Given the description of an element on the screen output the (x, y) to click on. 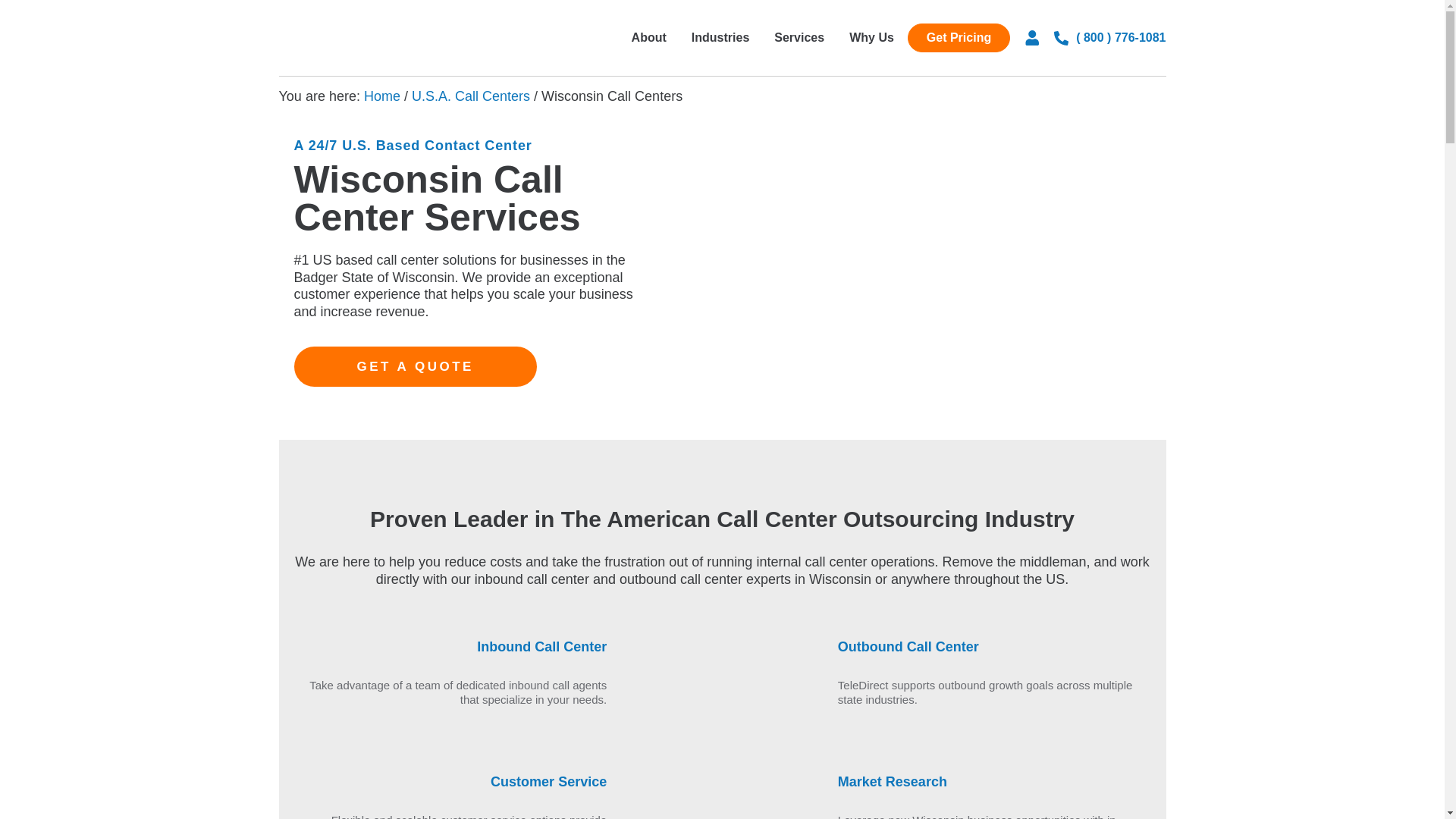
Outbound Call Center (908, 646)
Home (382, 96)
U.S.A. Call Centers (470, 96)
Get Pricing (958, 37)
Inbound Call Center (542, 646)
GET A QUOTE (415, 366)
Customer Service (548, 781)
Market Research (892, 781)
